Given the description of an element on the screen output the (x, y) to click on. 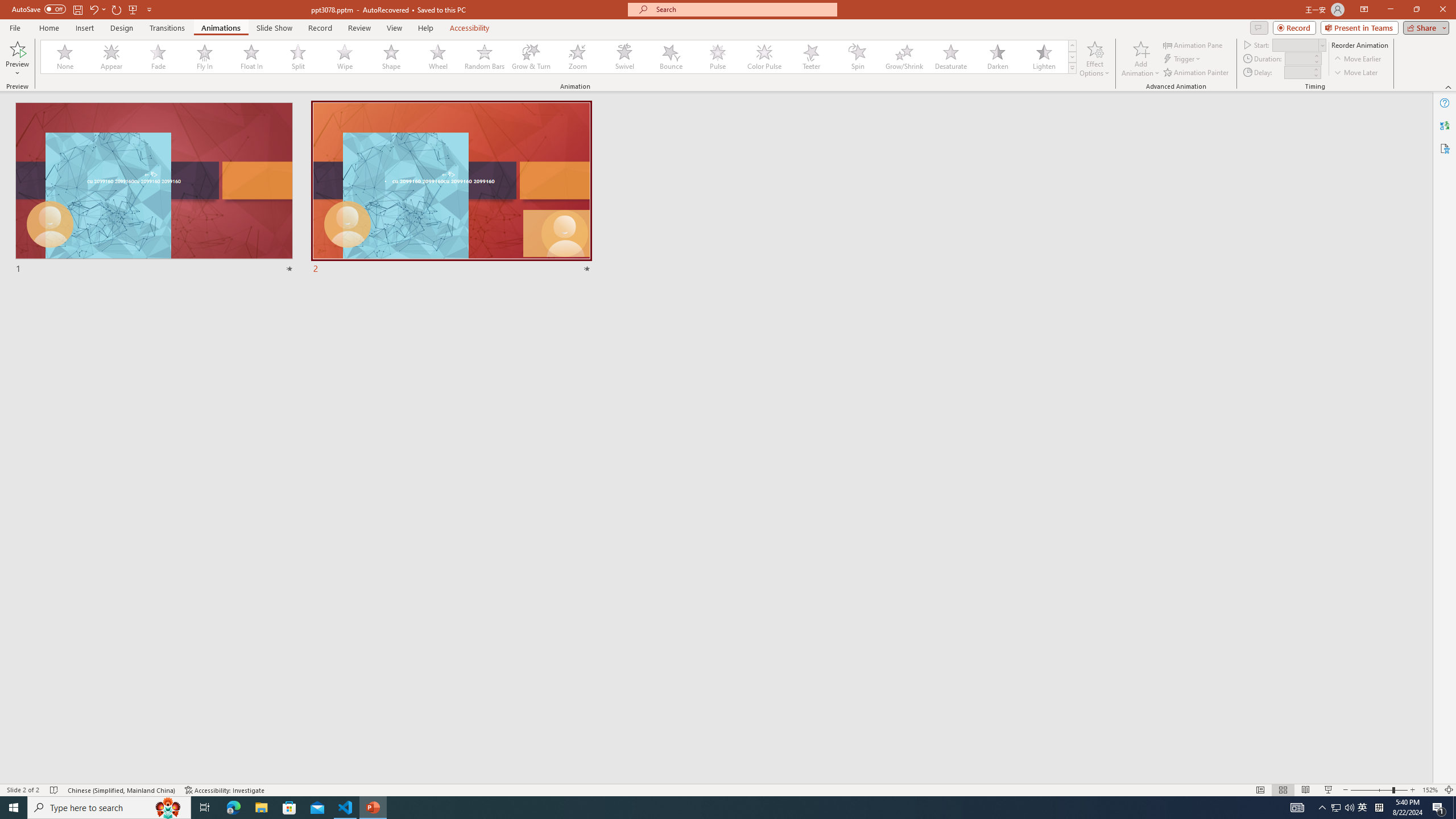
Less (1315, 75)
Animation Painter (1196, 72)
Grow & Turn (531, 56)
